Given the description of an element on the screen output the (x, y) to click on. 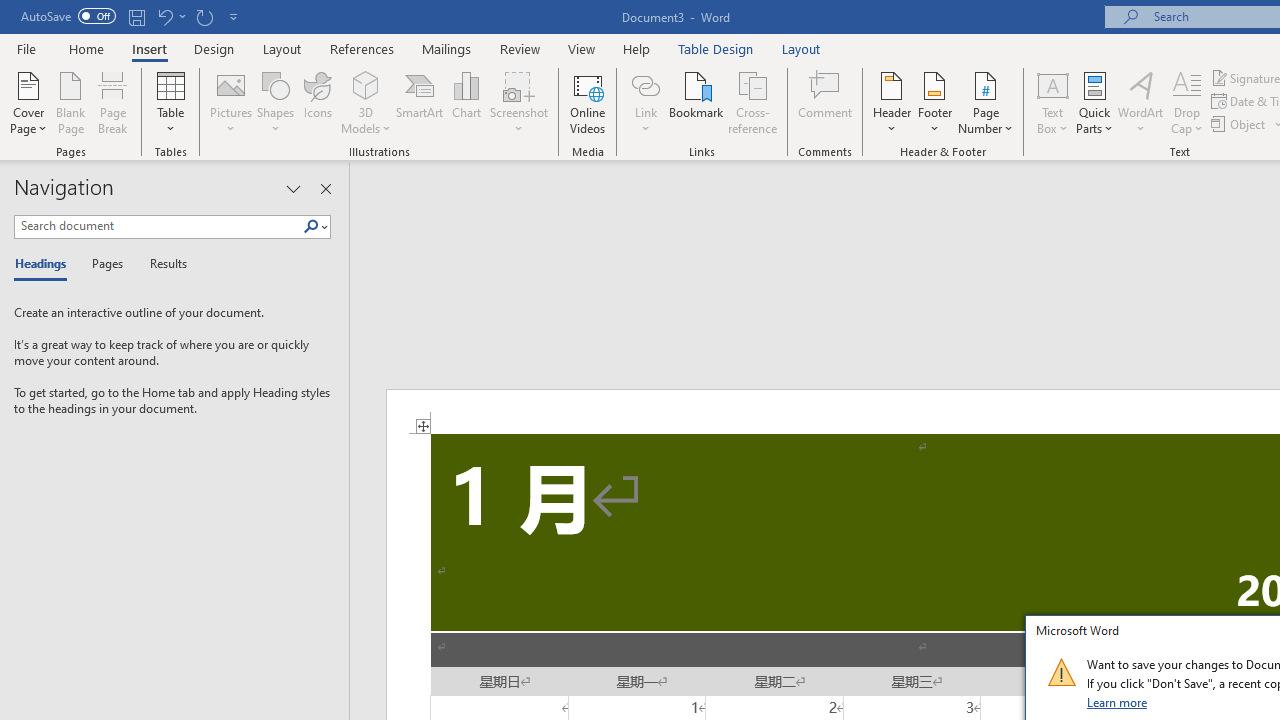
Object... (1240, 124)
References (362, 48)
Table Design (715, 48)
Review (520, 48)
Learn more (1118, 702)
Link (645, 102)
AutoSave (68, 16)
Screenshot (518, 102)
Insert (149, 48)
Footer (934, 102)
Pages (105, 264)
Pictures (230, 102)
3D Models (366, 84)
